Given the description of an element on the screen output the (x, y) to click on. 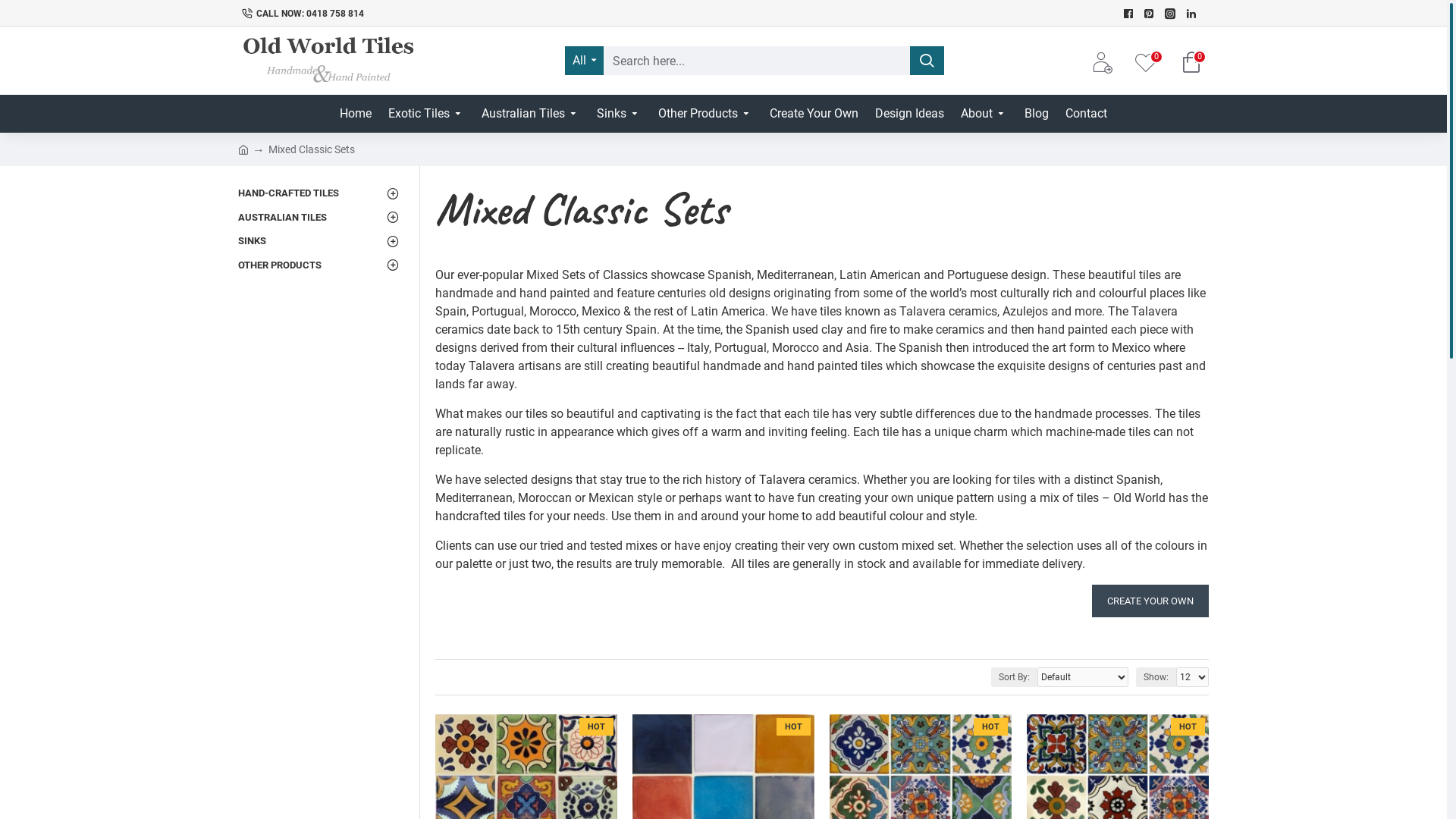
AUSTRALIAN TILES Element type: text (321, 216)
CREATE YOUR OWN Element type: text (1150, 600)
Blog Element type: text (1036, 113)
Sinks Element type: text (619, 113)
CALL NOW: 0418 758 814 Element type: text (679, 13)
0 Element type: text (1149, 59)
About Element type: text (984, 113)
Australian Tiles Element type: text (530, 113)
Design Ideas Element type: text (909, 113)
SINKS Element type: text (321, 241)
0 Element type: text (1190, 61)
Mixed Classic Sets Element type: text (311, 148)
Old World Tiles Element type: hover (329, 60)
Exotic Tiles Element type: text (426, 113)
Contact Element type: text (1085, 113)
HAND-CRAFTED TILES Element type: text (321, 193)
Other Products Element type: text (705, 113)
Home Element type: text (355, 113)
OTHER PRODUCTS Element type: text (321, 265)
Create Your Own Element type: text (813, 113)
